Given the description of an element on the screen output the (x, y) to click on. 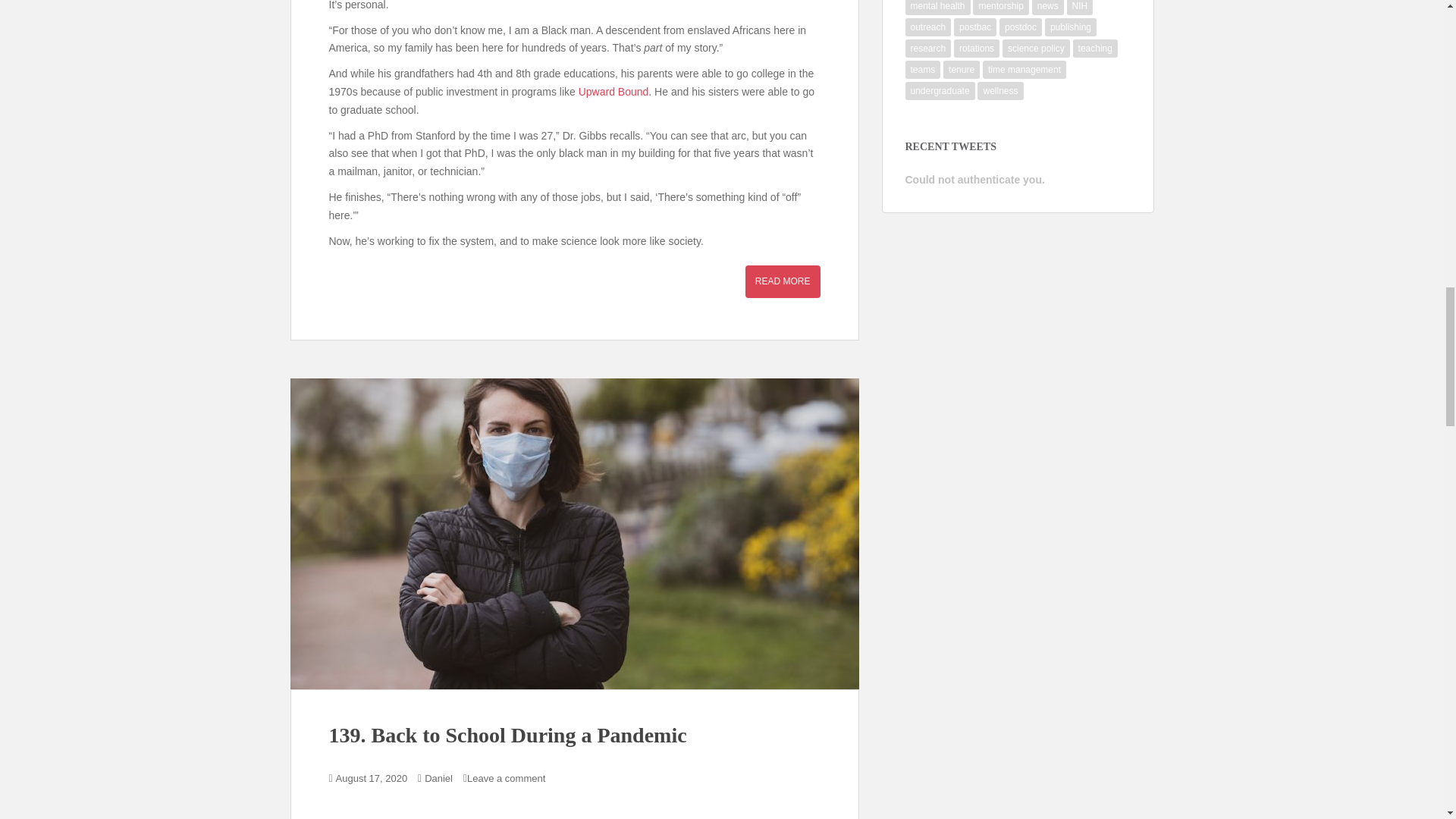
Blubrry Podcast Player (575, 814)
READ MORE (783, 281)
139. Back to School During a Pandemic (508, 734)
August 17, 2020 (371, 778)
Daniel (438, 778)
Leave a comment (505, 778)
Upward Bound (613, 91)
